Given the description of an element on the screen output the (x, y) to click on. 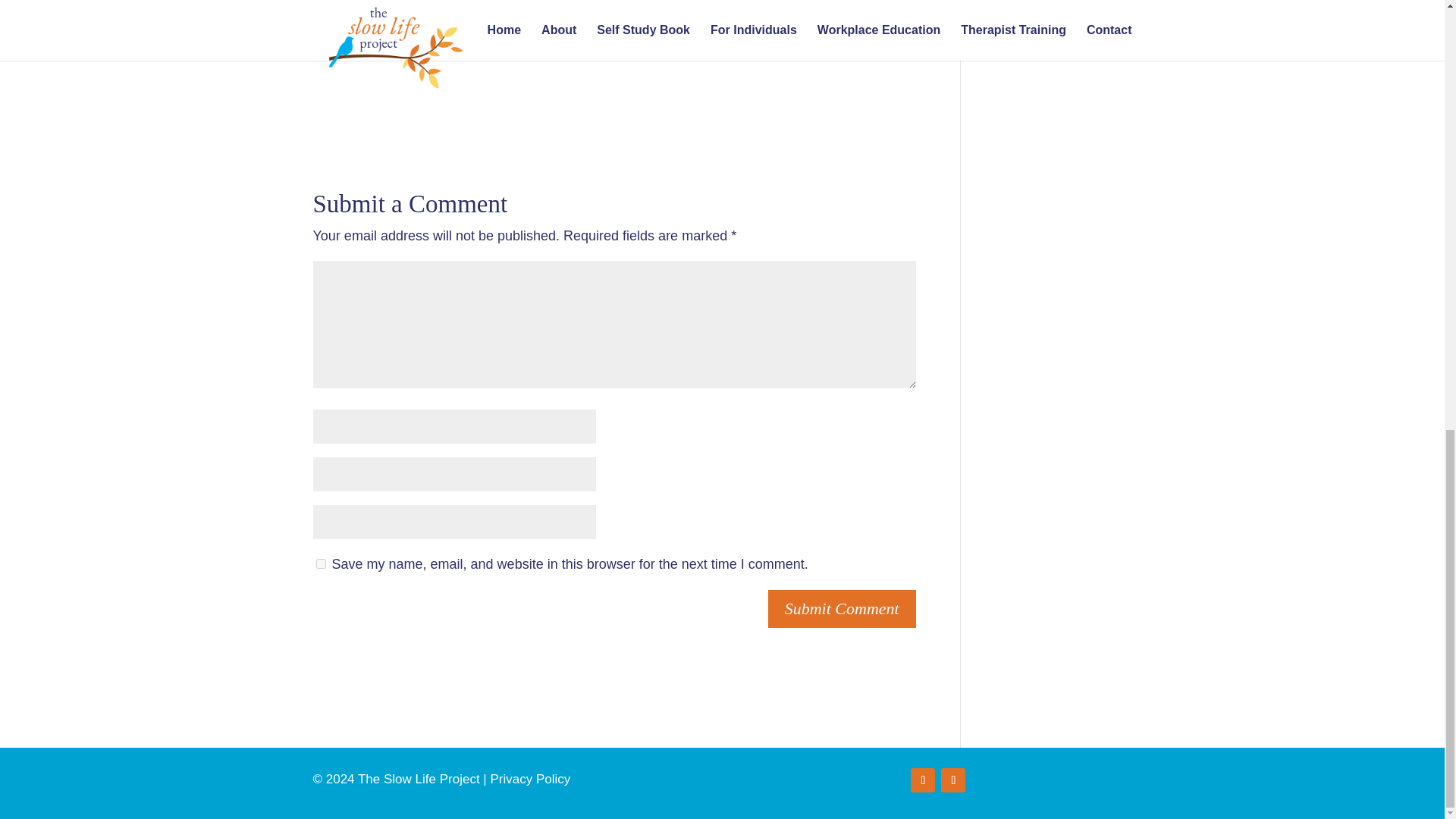
The Slow Life Project (606, 4)
Privacy Policy (529, 779)
yes (319, 563)
Submit Comment (841, 608)
Submit Comment (841, 608)
Follow on Instagram (952, 780)
Follow on Facebook (922, 780)
